Given the description of an element on the screen output the (x, y) to click on. 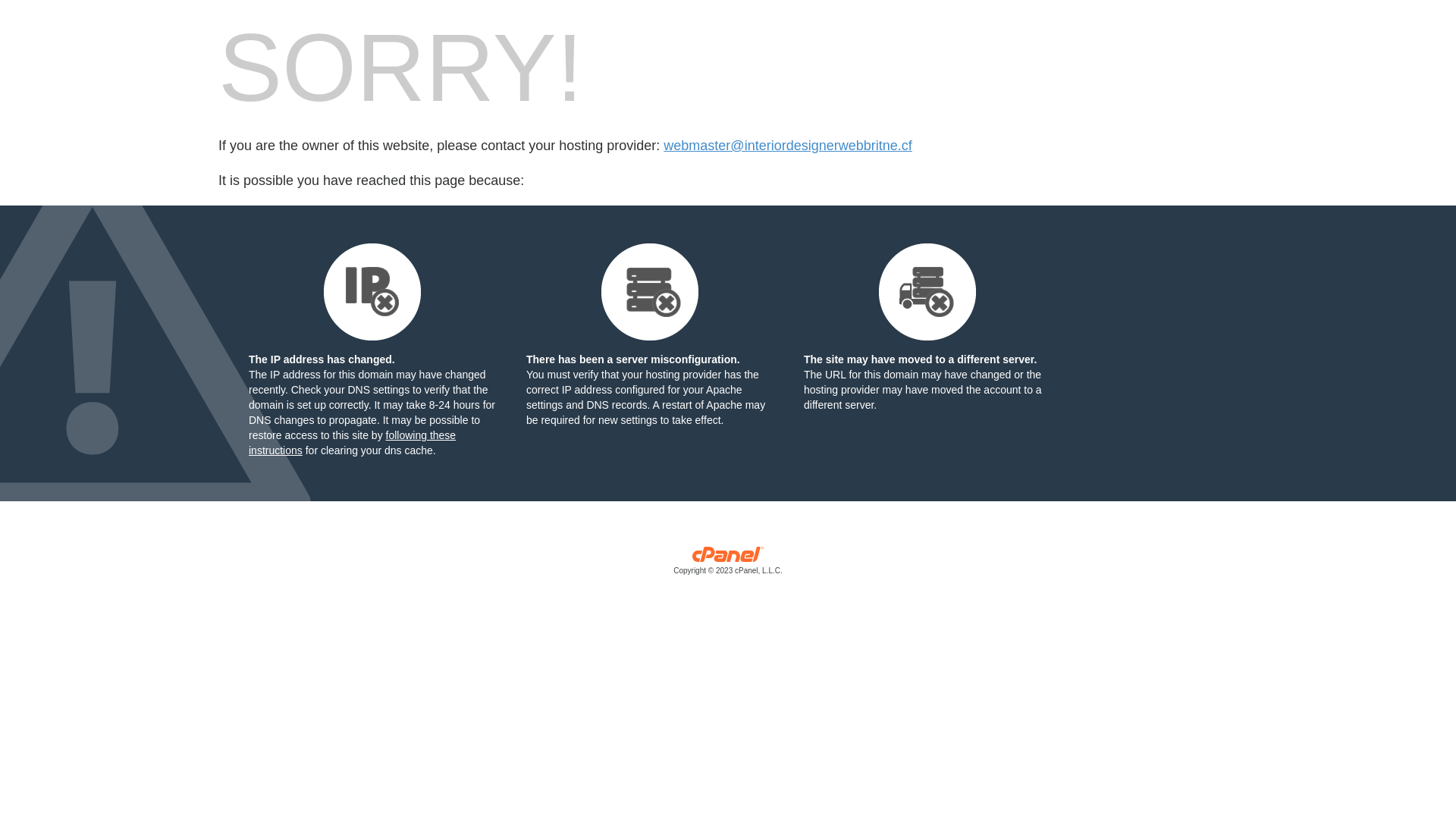
following these instructions Element type: text (351, 442)
webmaster@interiordesignerwebbritne.cf Element type: text (787, 145)
